Given the description of an element on the screen output the (x, y) to click on. 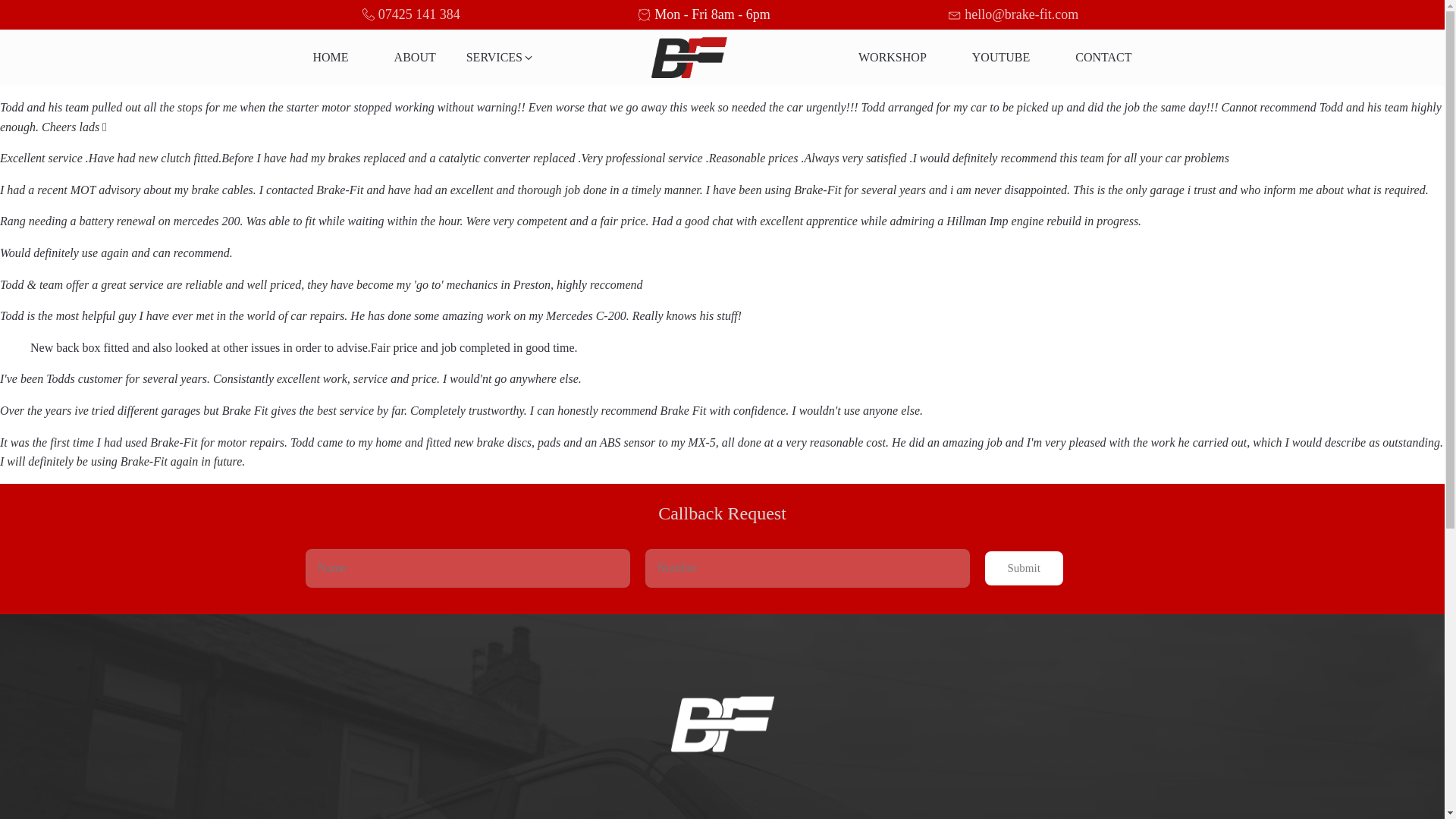
CONTACT (1103, 57)
HOME (330, 57)
Submit (1023, 568)
07425 141 384 (419, 14)
YOUTUBE (1000, 57)
WORKSHOP (892, 57)
SERVICES (499, 57)
ABOUT (414, 57)
